Given the description of an element on the screen output the (x, y) to click on. 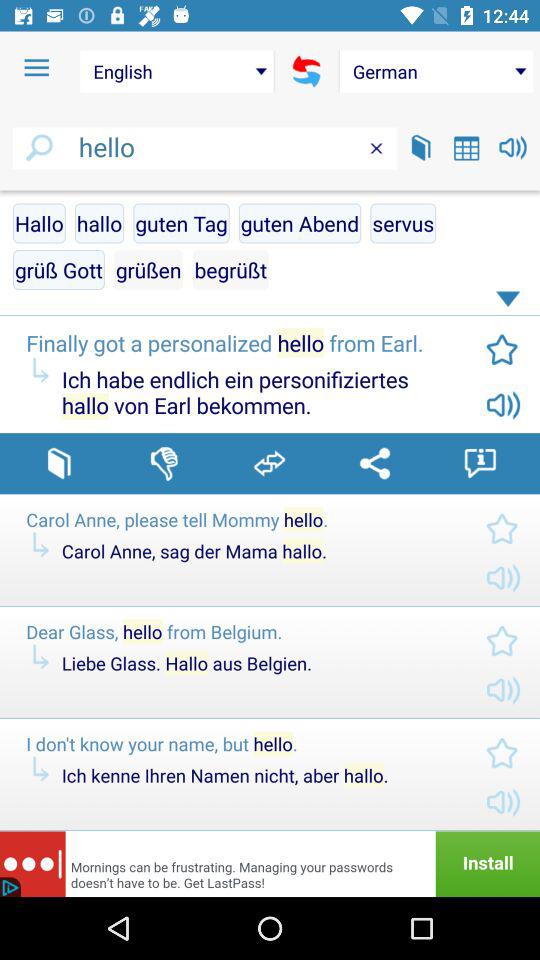
turn off the icon above hello (36, 68)
